Given the description of an element on the screen output the (x, y) to click on. 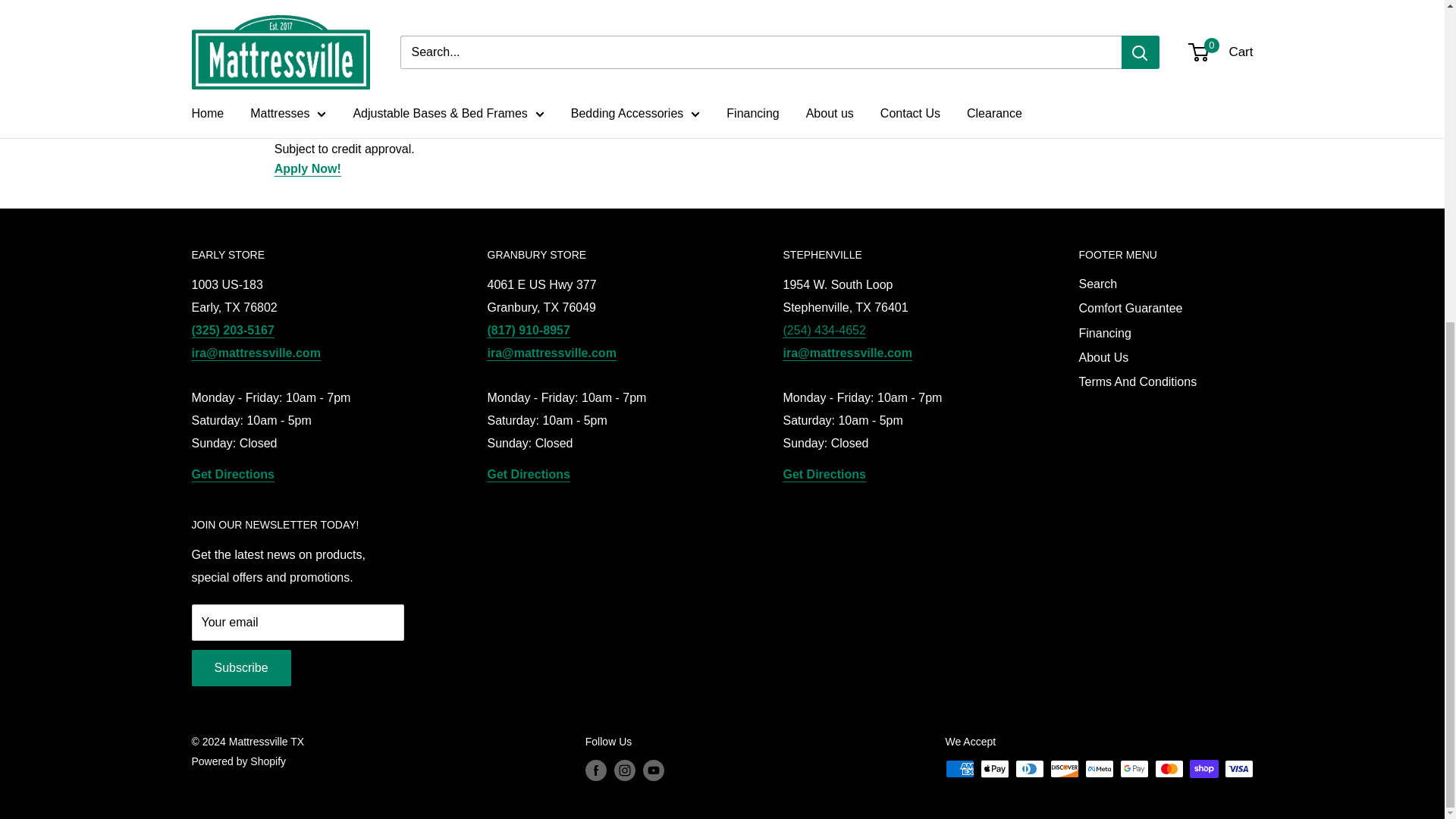
Financing (307, 168)
Comfort Guarantee (1078, 128)
Contact Us (719, 110)
